Given the description of an element on the screen output the (x, y) to click on. 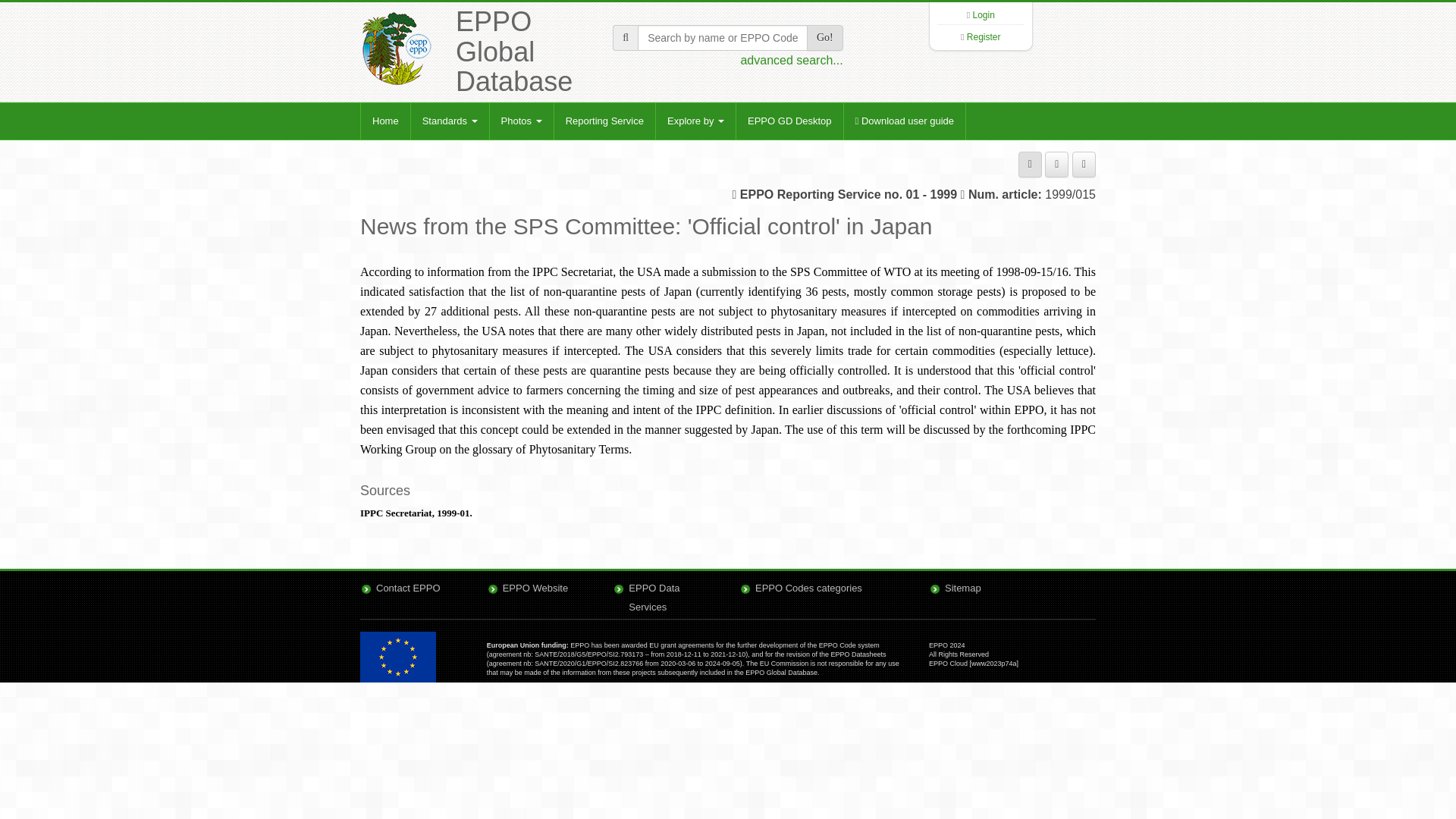
advanced search... (791, 60)
Print (1029, 164)
Photos (521, 121)
Explore by (695, 121)
Share on facebook (1056, 164)
Register (983, 36)
Go! (824, 37)
Share on twitter (1083, 164)
Home (384, 121)
Reporting Service (604, 121)
EPPO GD Desktop (789, 121)
Login (983, 14)
Standards (449, 121)
